Given the description of an element on the screen output the (x, y) to click on. 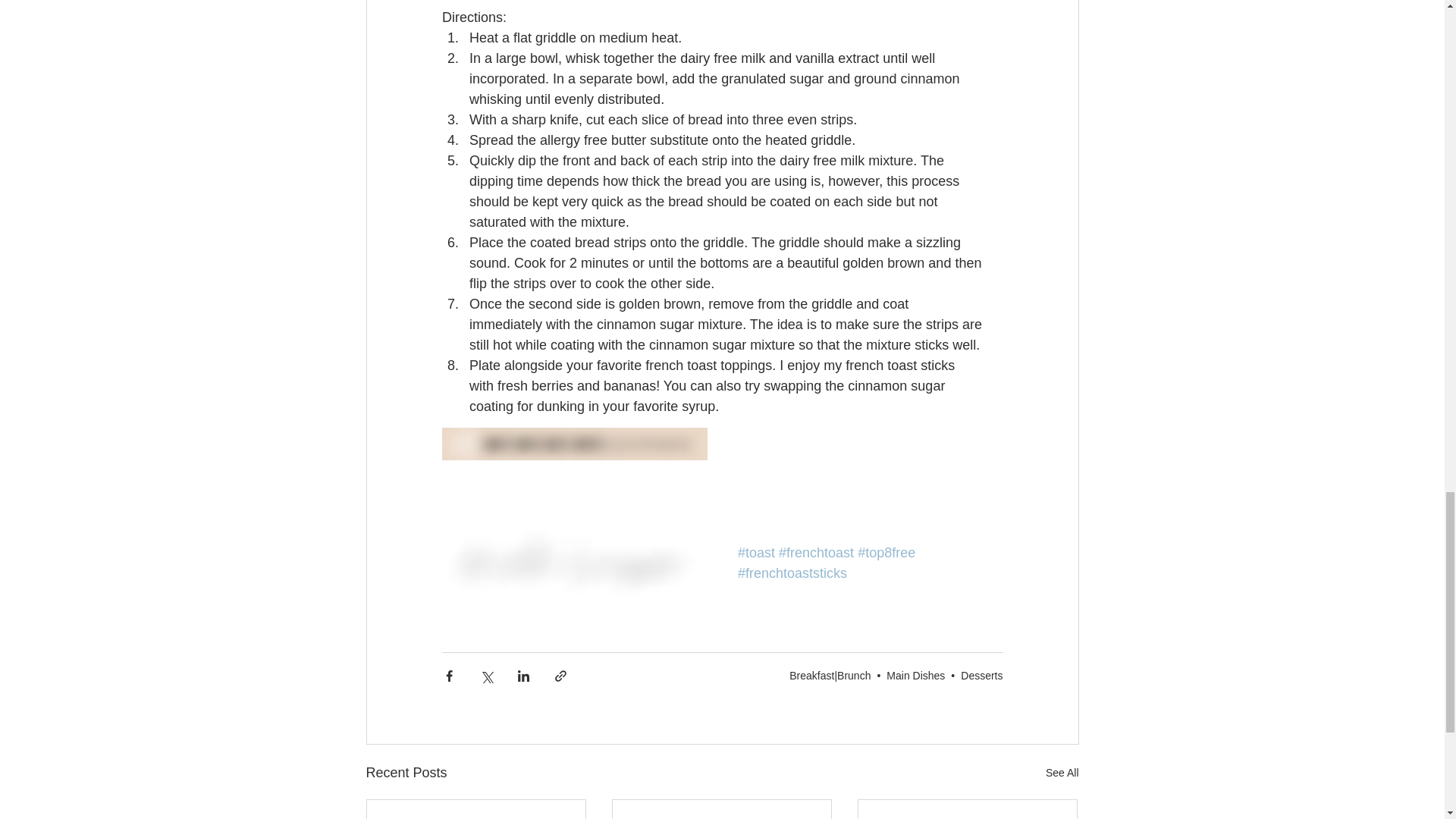
Desserts (981, 675)
Main Dishes (915, 675)
See All (1061, 772)
